Given the description of an element on the screen output the (x, y) to click on. 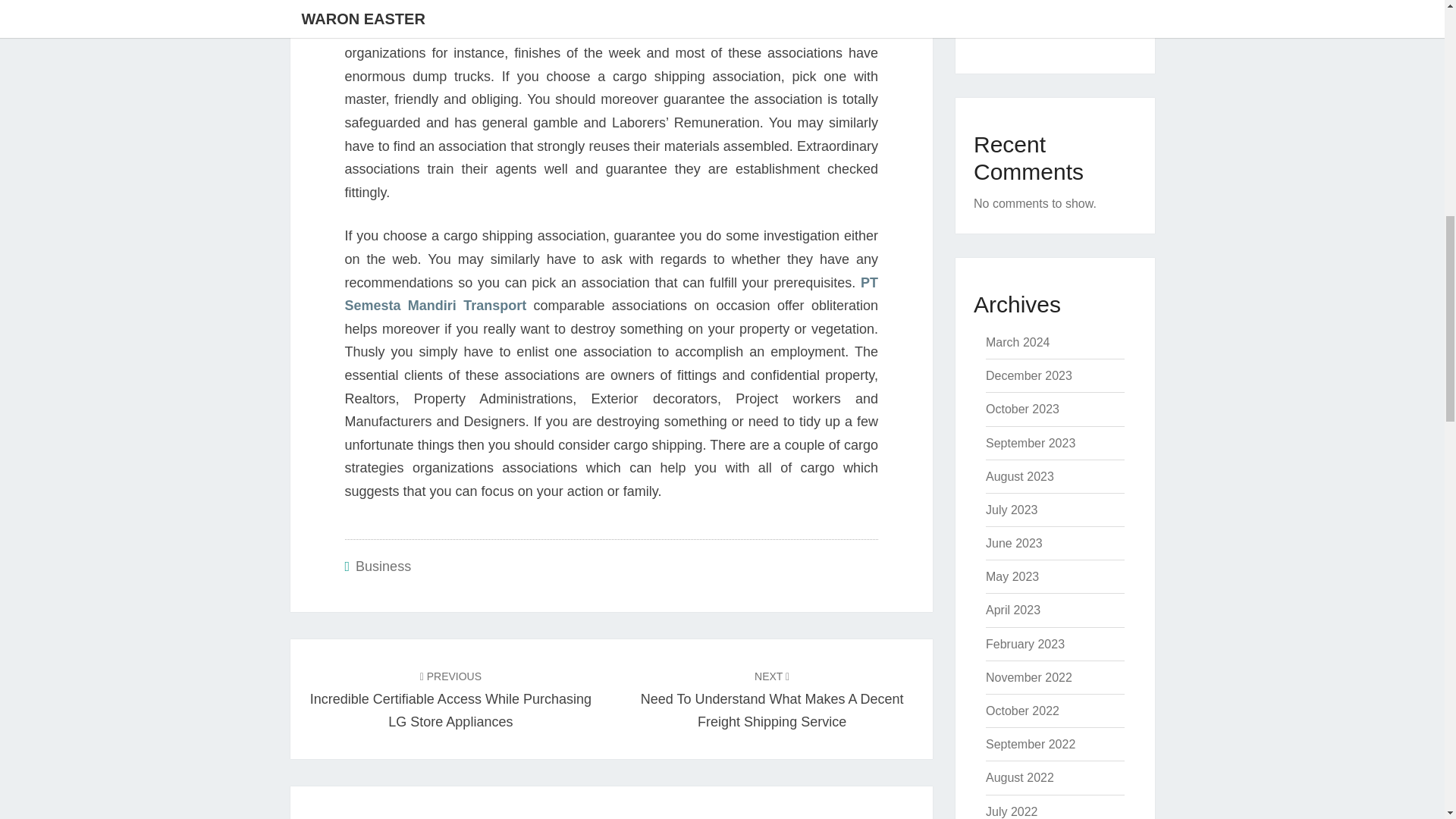
September 2022 (1030, 744)
February 2023 (1024, 644)
Home Insurance Essentials for Every Homeowner (1039, 18)
July 2022 (1011, 811)
April 2023 (1013, 609)
June 2023 (1013, 543)
December 2023 (1028, 375)
May 2023 (1012, 576)
October 2022 (1022, 710)
